Given the description of an element on the screen output the (x, y) to click on. 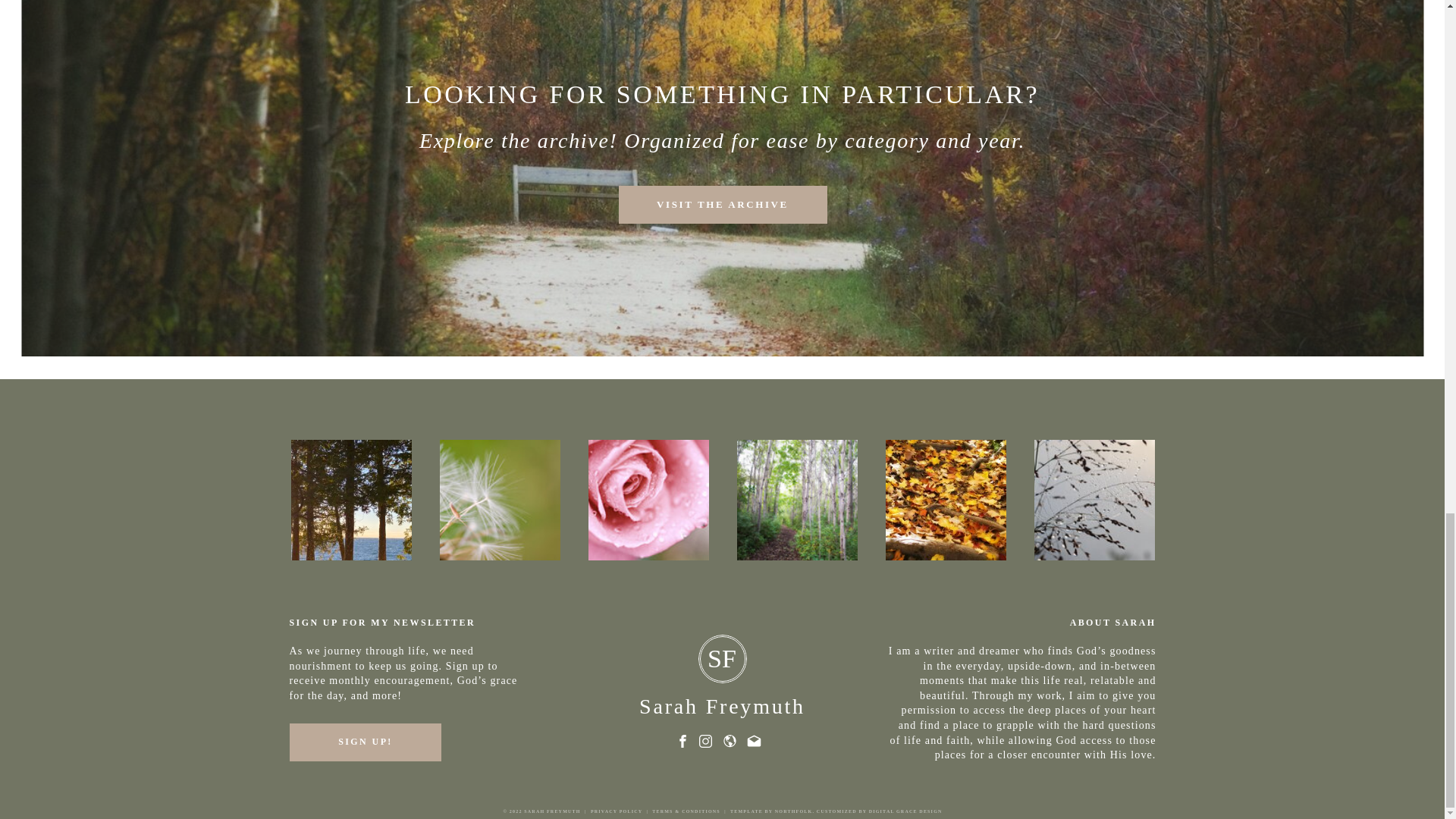
Life Will Take Root (499, 499)
Those Who Wait (945, 499)
SIGN UP! (364, 742)
PRIVACY POLICY (616, 811)
VISIT THE ARCHIVE (722, 204)
CUSTOMIZED BY DIGITAL GRACE DESIGN (879, 811)
Road To Come (796, 499)
Murmur (648, 499)
TEMPLATE BY NORTHFOLK (771, 811)
